Given the description of an element on the screen output the (x, y) to click on. 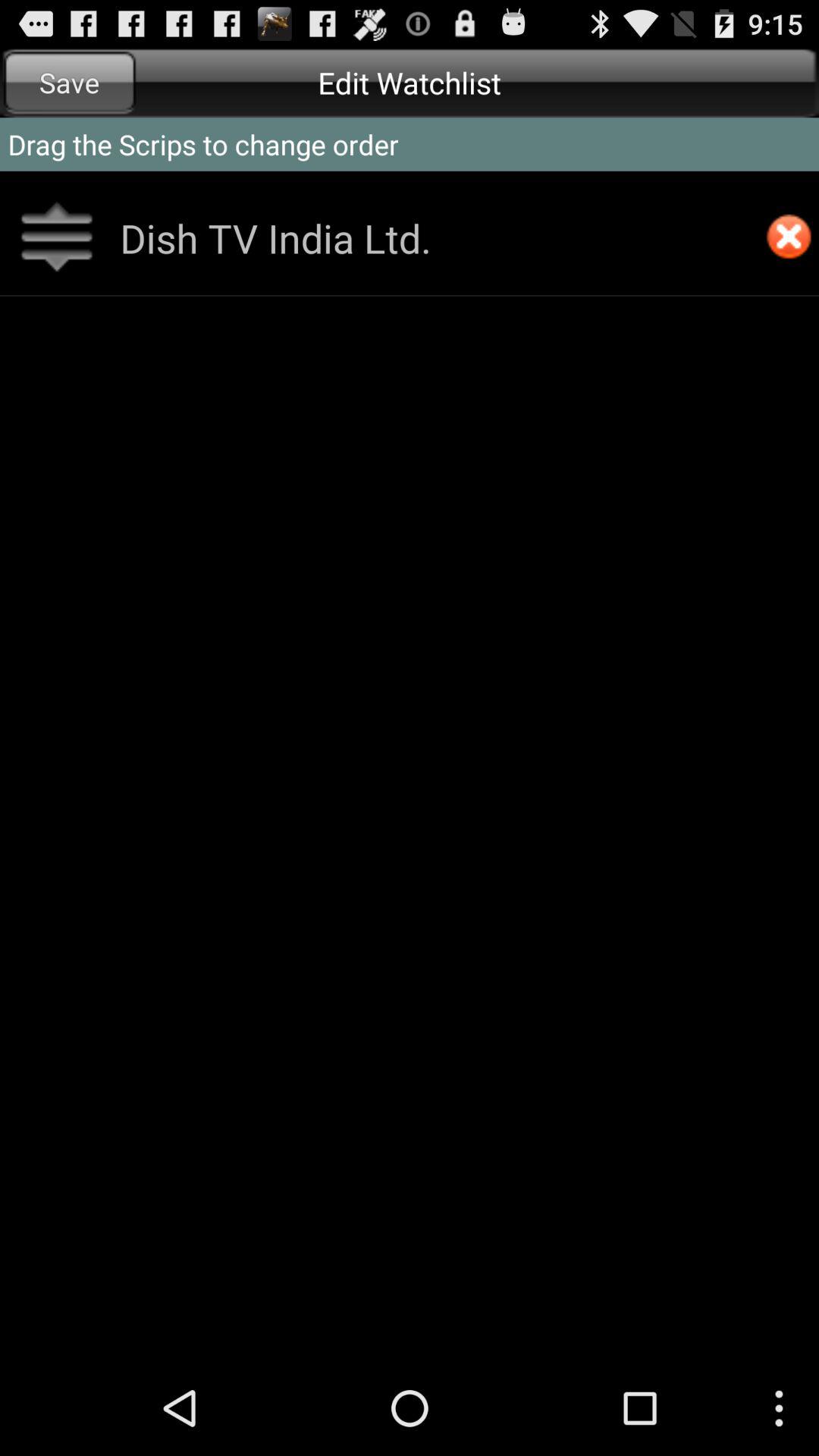
flip to save (69, 82)
